Given the description of an element on the screen output the (x, y) to click on. 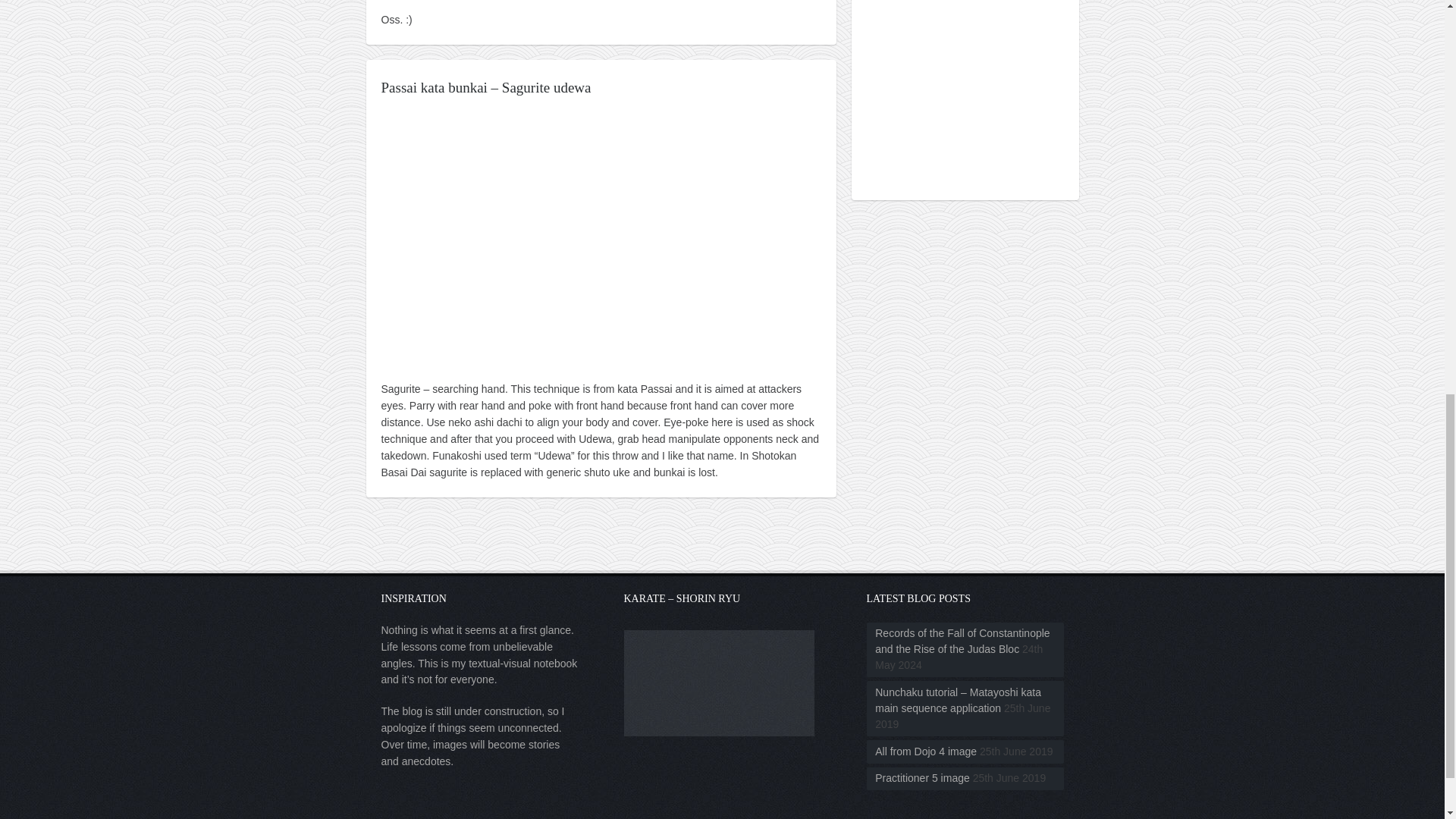
Shorin Passai kata bunkai - Sagurite udewa (600, 237)
